Given the description of an element on the screen output the (x, y) to click on. 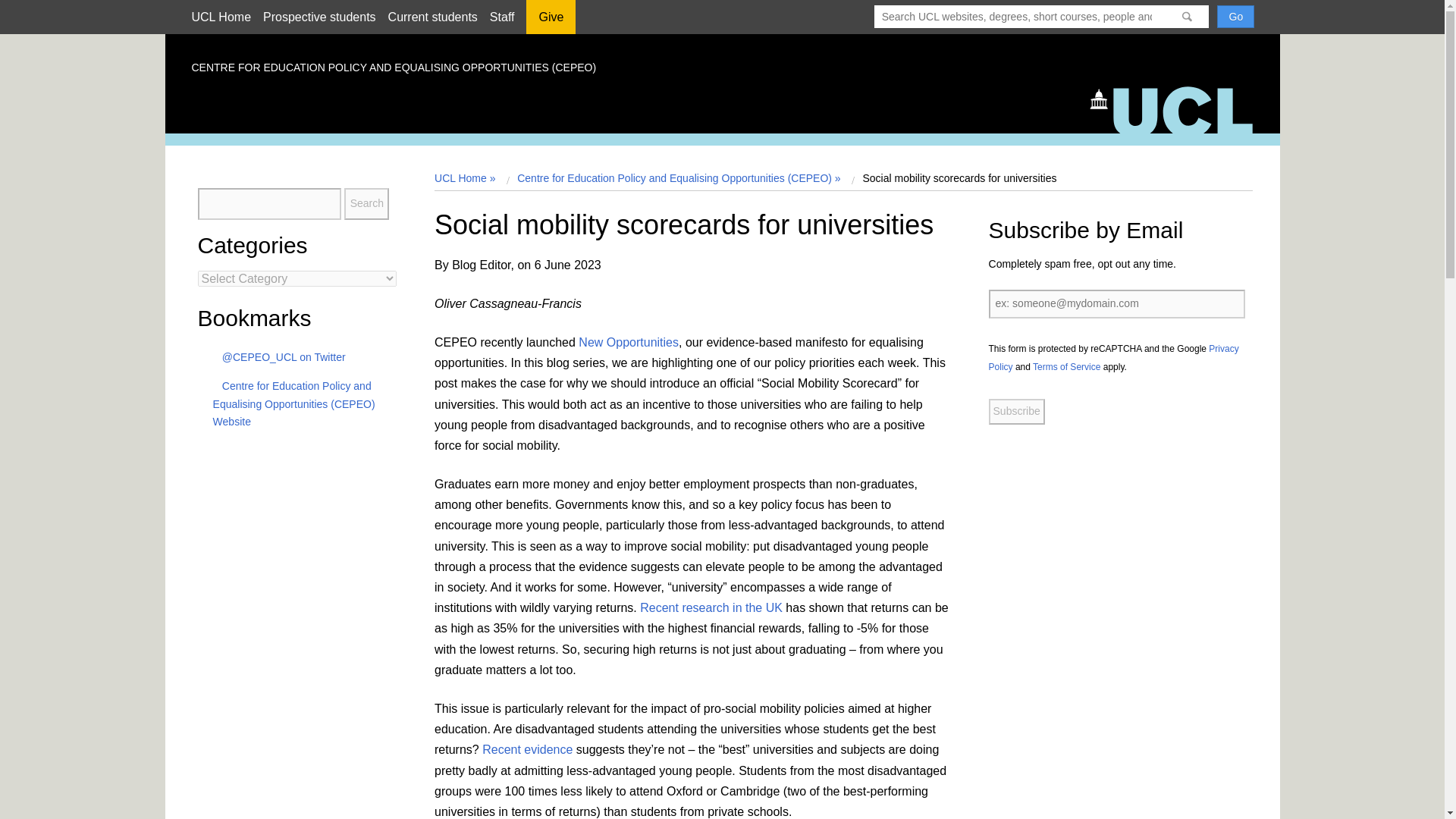
Subscribe (1016, 411)
Give (550, 22)
Staff (502, 16)
UCL Home (220, 16)
Go (1235, 15)
Recent evidence (526, 748)
Terms of Service (1066, 366)
Home (1178, 108)
Go (1235, 15)
Go (1235, 15)
